Given the description of an element on the screen output the (x, y) to click on. 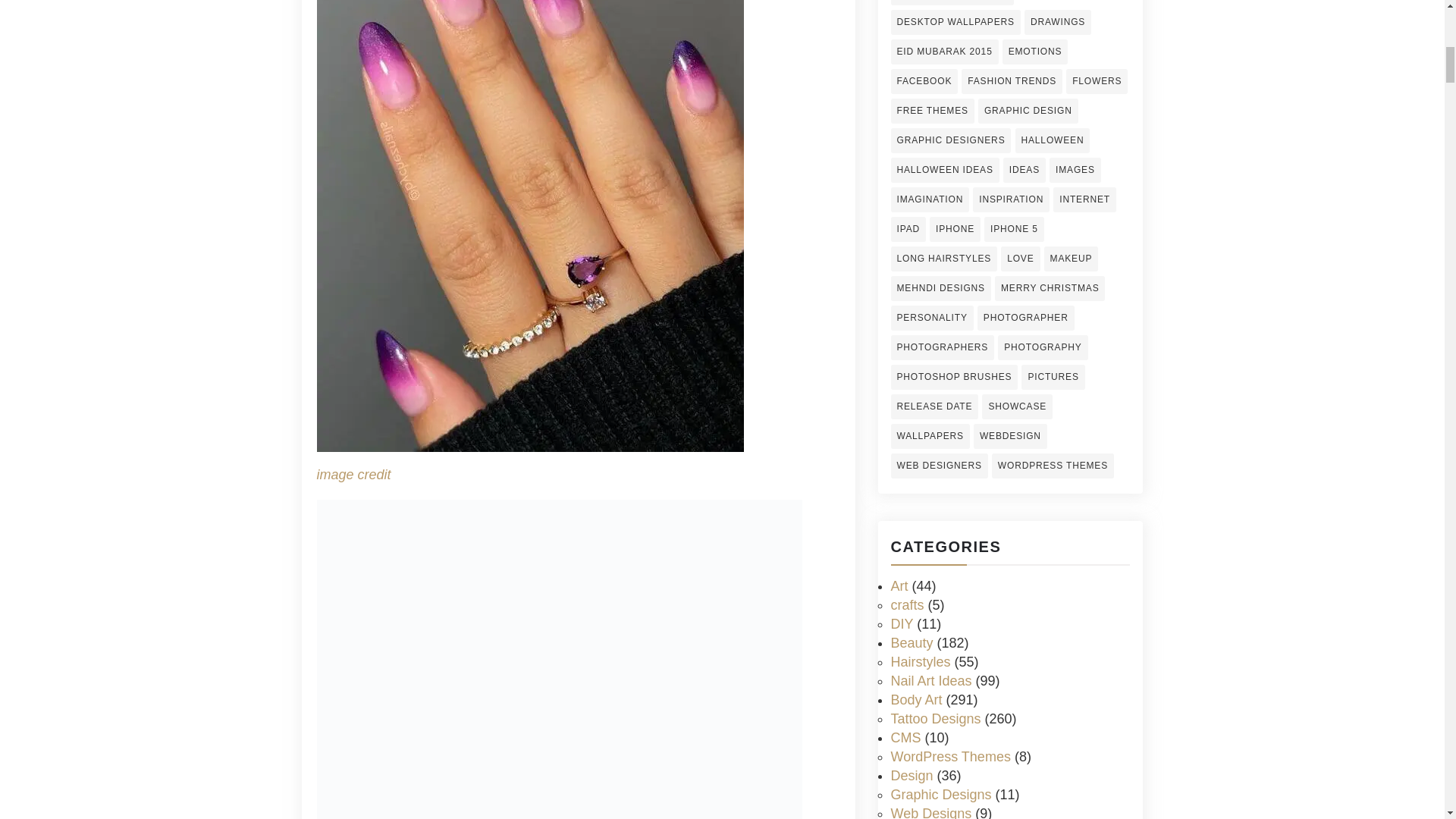
image credit (354, 474)
